Given the description of an element on the screen output the (x, y) to click on. 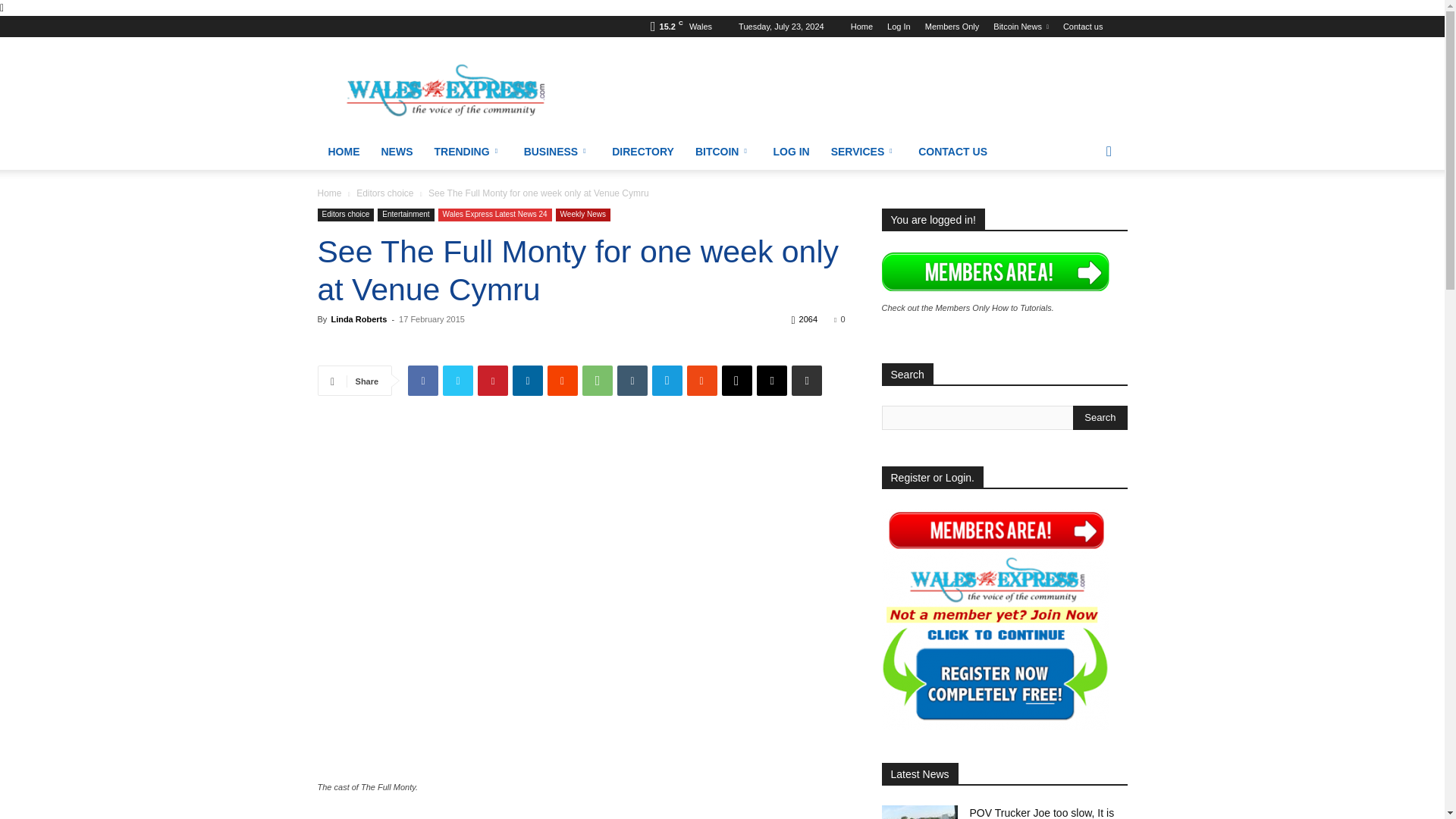
Search (1099, 417)
